Given the description of an element on the screen output the (x, y) to click on. 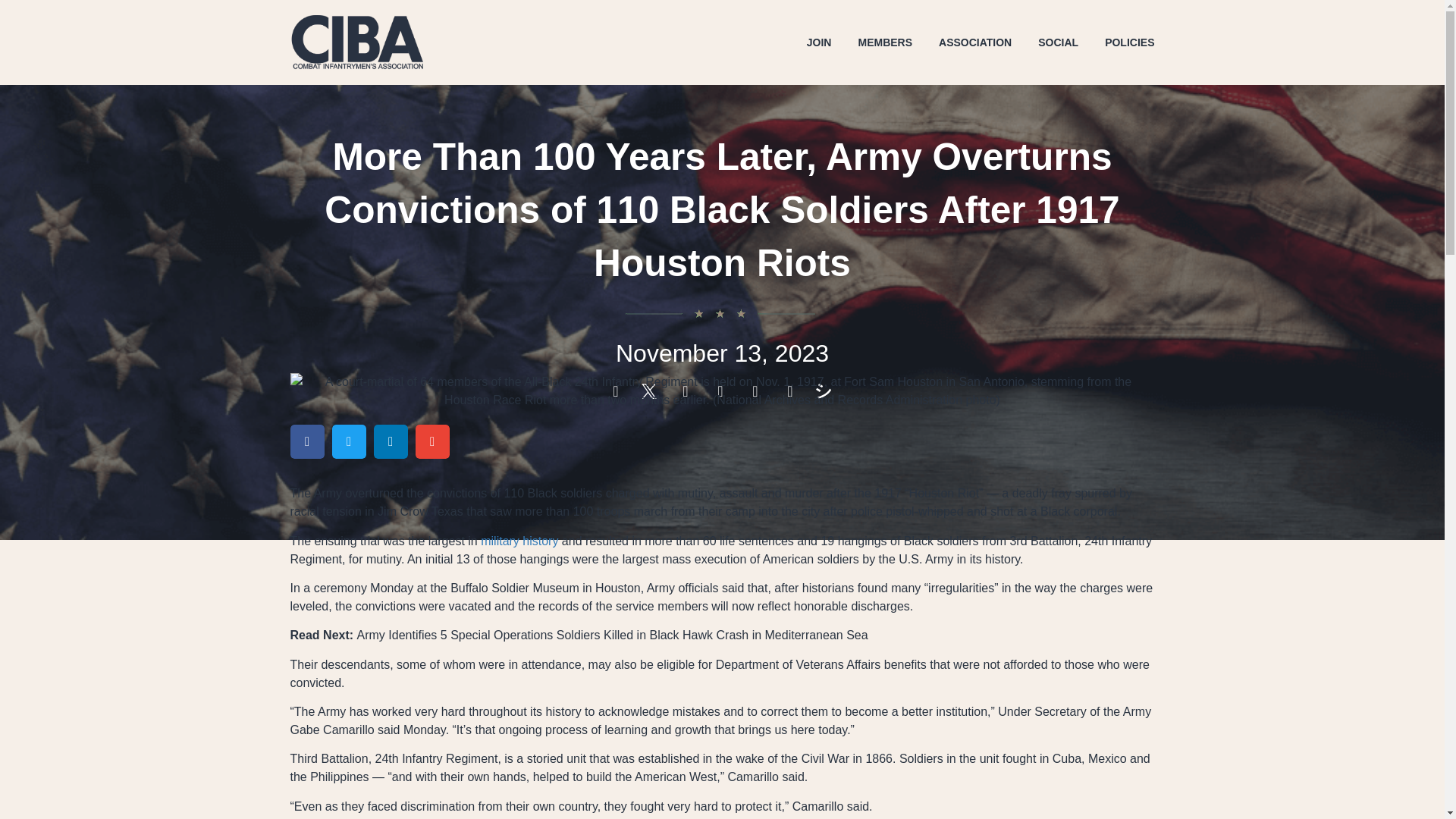
ASSOCIATION (975, 42)
Developer Jarvis Media Group (826, 391)
POLICIES (1129, 42)
Combat Infantrymen's Association On Youtube (791, 391)
Combat Infantrymen's Association On Instagram (687, 391)
MEMBERS (884, 42)
Combat Infantrymen's Association On Twitter (652, 391)
largestcourtmartial.jpg (721, 391)
SOCIAL (1058, 42)
Combat Infantrymen's Association On Linkedin (756, 391)
